Given the description of an element on the screen output the (x, y) to click on. 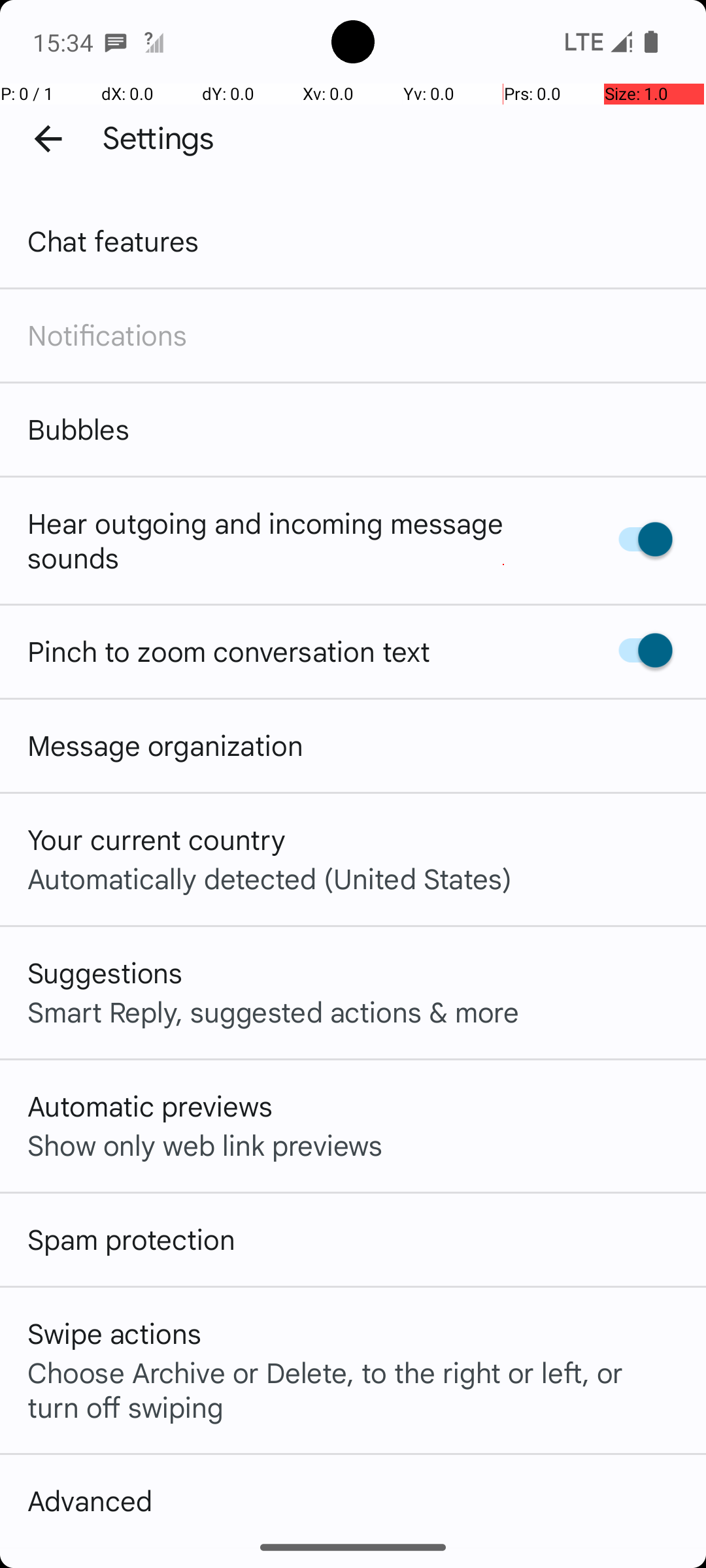
Chat features Element type: android.widget.TextView (113, 240)
Hear outgoing and incoming message sounds Element type: android.widget.TextView (299, 539)
Pinch to zoom conversation text Element type: android.widget.TextView (228, 650)
Message organization Element type: android.widget.TextView (165, 744)
Your current country Element type: android.widget.TextView (156, 838)
Automatically detected (United States) Element type: android.widget.TextView (269, 877)
Smart Reply, suggested actions & more Element type: android.widget.TextView (273, 1010)
Automatic previews Element type: android.widget.TextView (149, 1105)
Show only web link previews Element type: android.widget.TextView (205, 1144)
Spam protection Element type: android.widget.TextView (131, 1238)
Swipe actions Element type: android.widget.TextView (114, 1332)
Choose Archive or Delete, to the right or left, or turn off swiping Element type: android.widget.TextView (352, 1388)
